Given the description of an element on the screen output the (x, y) to click on. 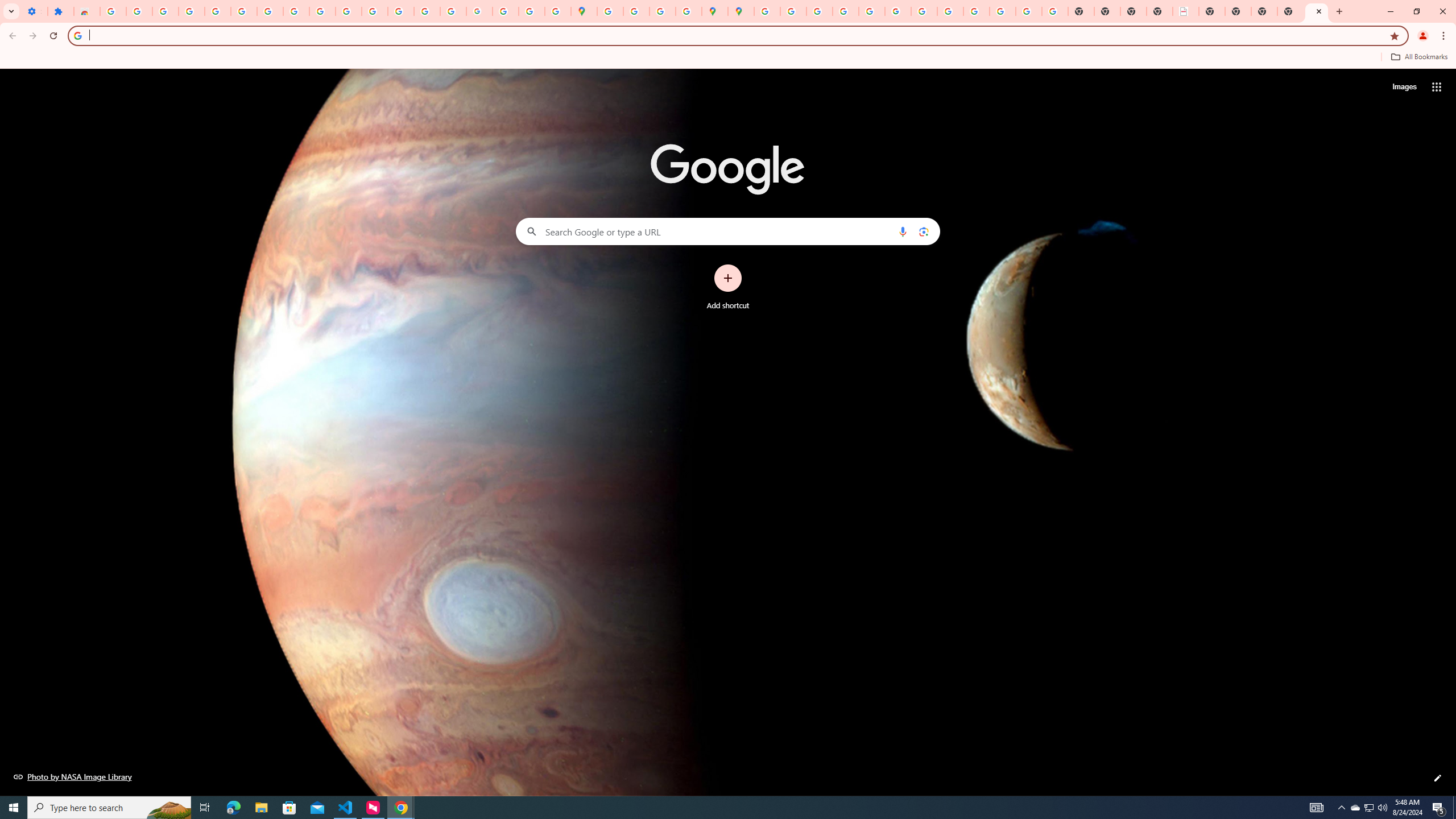
Reviews: Helix Fruit Jump Arcade Game (86, 11)
YouTube (923, 11)
YouTube (322, 11)
LAAD Defence & Security 2025 | BAE Systems (1185, 11)
Customize this page (1437, 778)
Sign in - Google Accounts (112, 11)
